Given the description of an element on the screen output the (x, y) to click on. 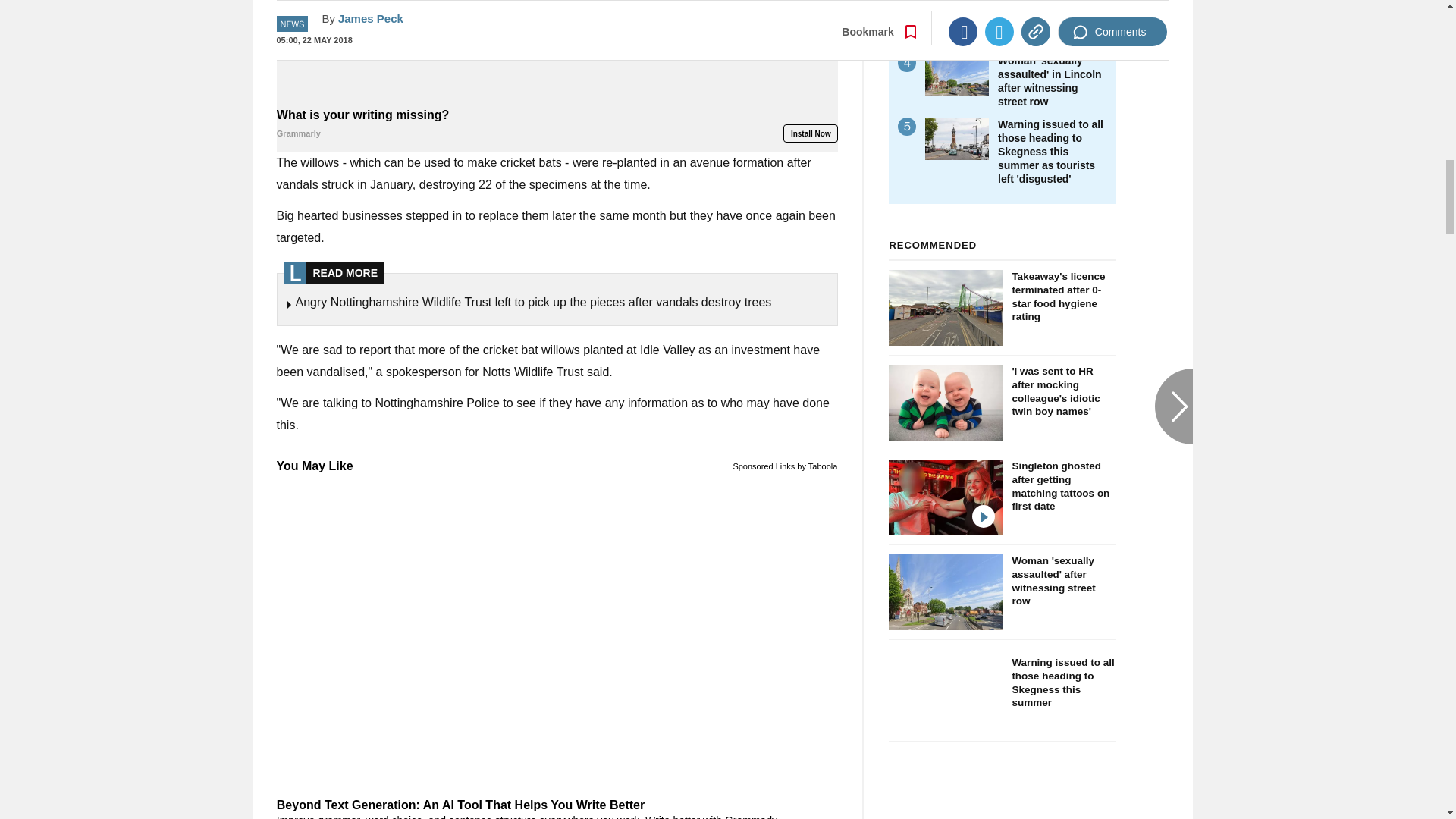
What is your writing missing? (557, 52)
